Given the description of an element on the screen output the (x, y) to click on. 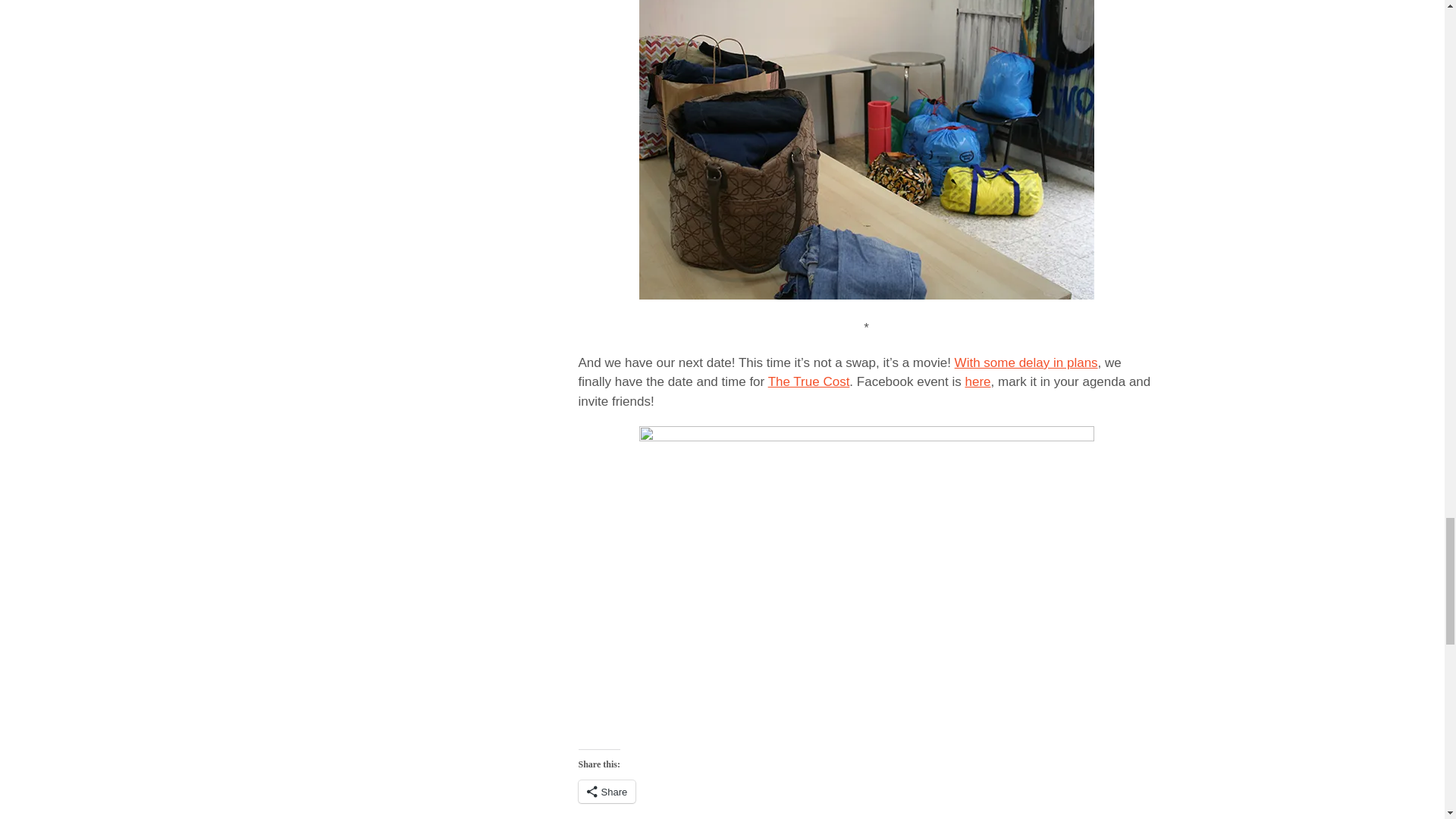
The True Cost (809, 381)
here (976, 381)
Share (607, 791)
With some delay in plans (1026, 362)
